Given the description of an element on the screen output the (x, y) to click on. 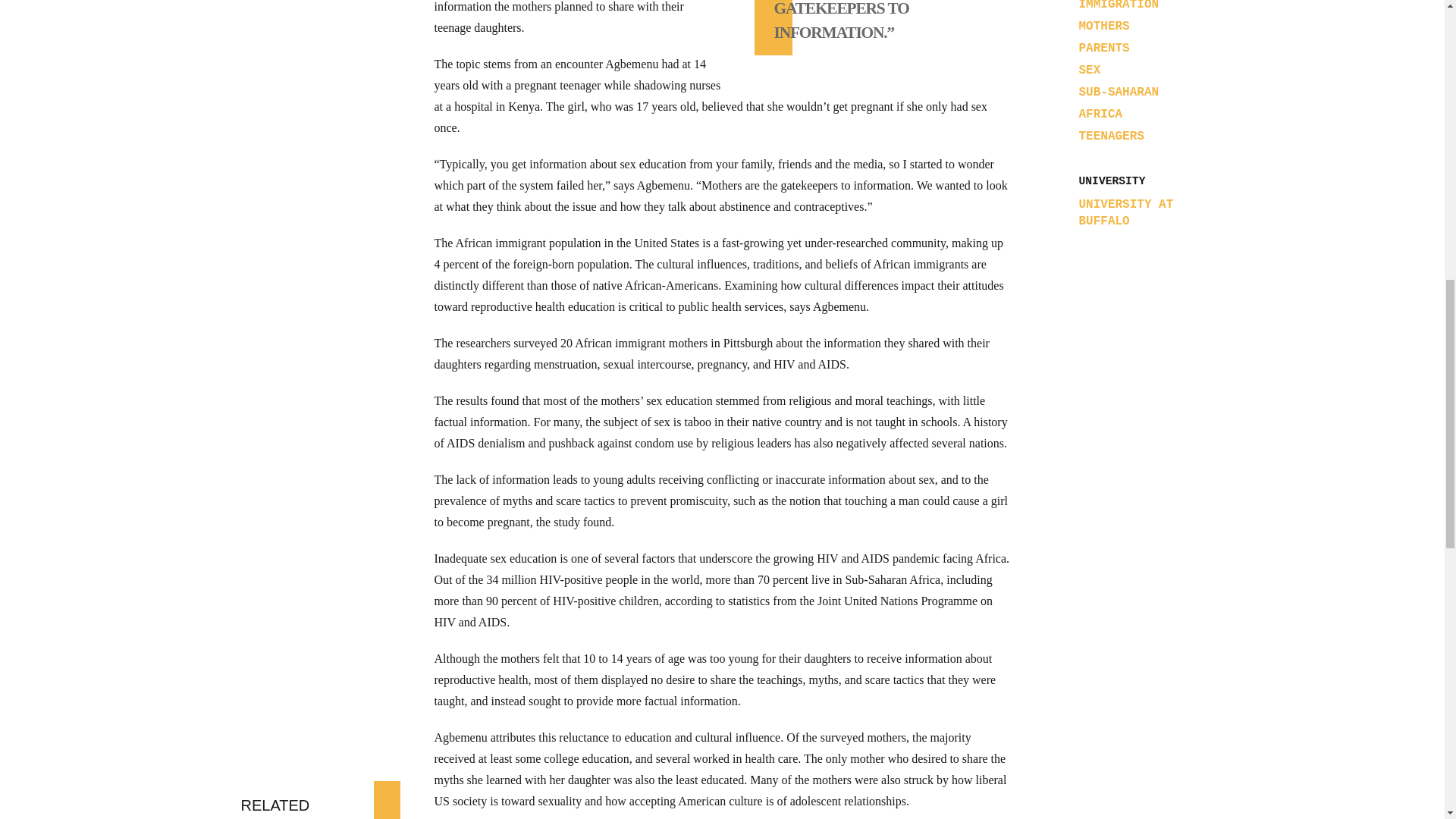
PARENTS (1103, 48)
MOTHERS (1103, 26)
IMMIGRATION (1118, 5)
